Given the description of an element on the screen output the (x, y) to click on. 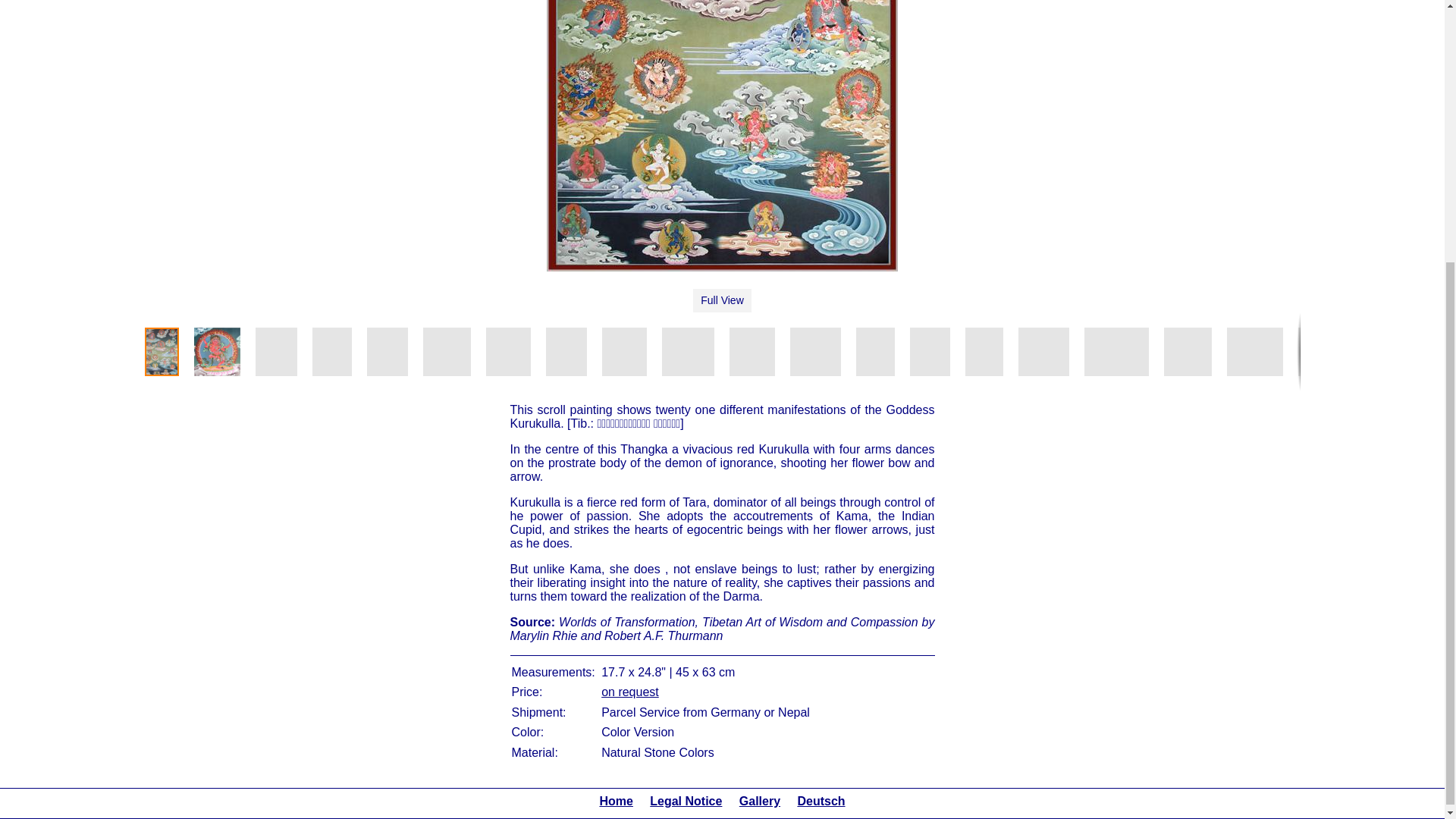
Home (616, 801)
Deutsch (821, 801)
Legal Notice (686, 801)
on request (630, 691)
Gallery (759, 801)
